Given the description of an element on the screen output the (x, y) to click on. 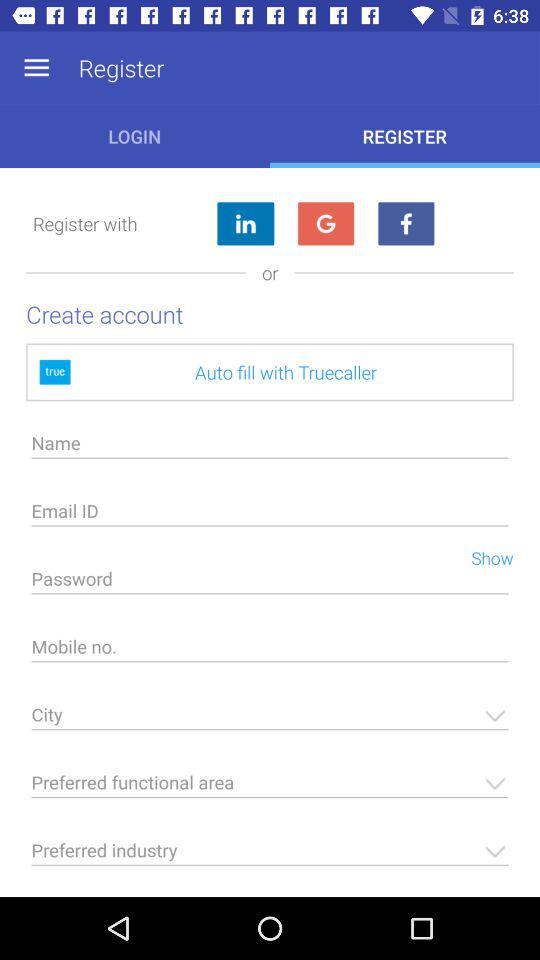
go to google (325, 224)
